Given the description of an element on the screen output the (x, y) to click on. 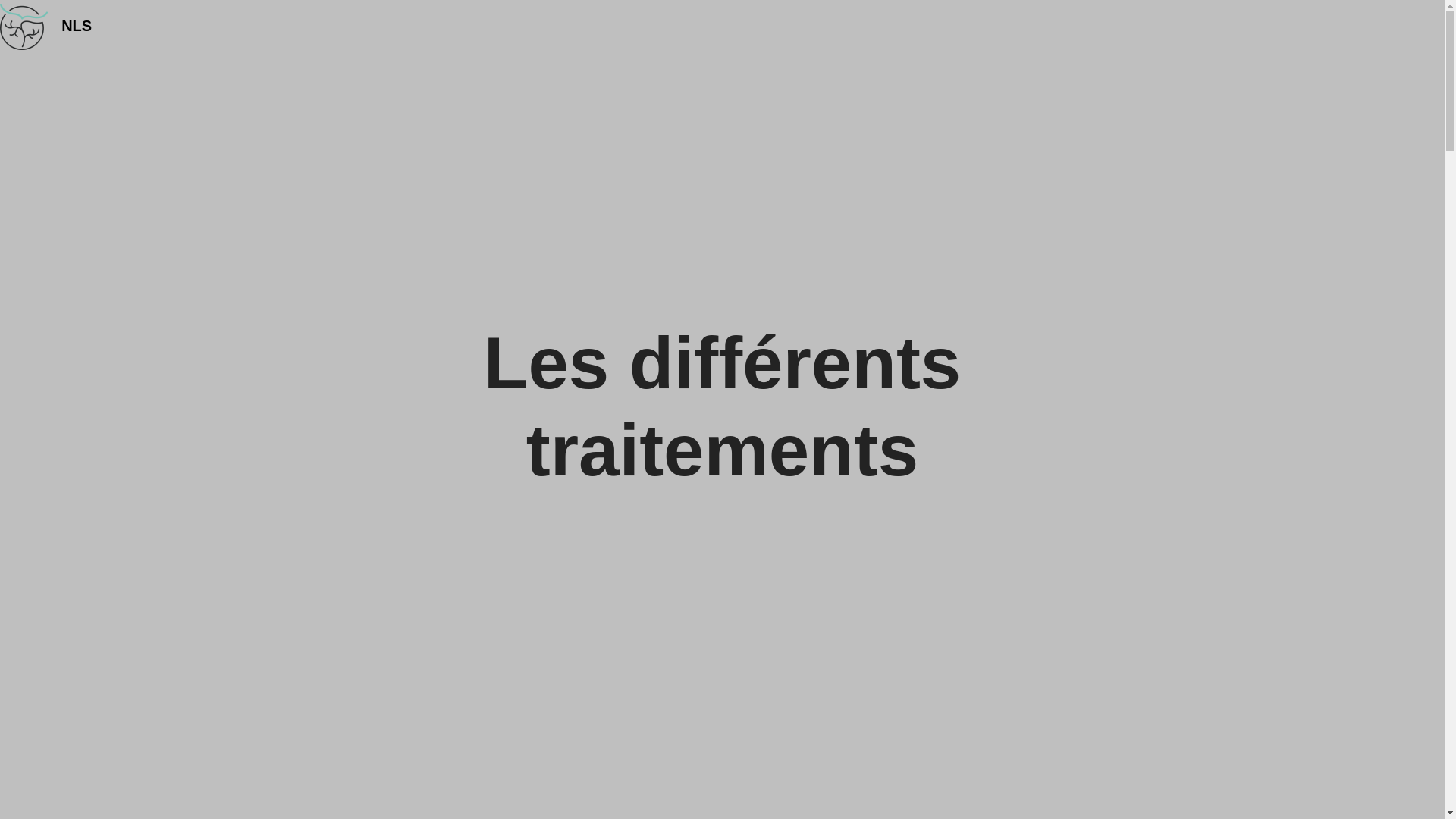
NLS Element type: text (76, 25)
